Given the description of an element on the screen output the (x, y) to click on. 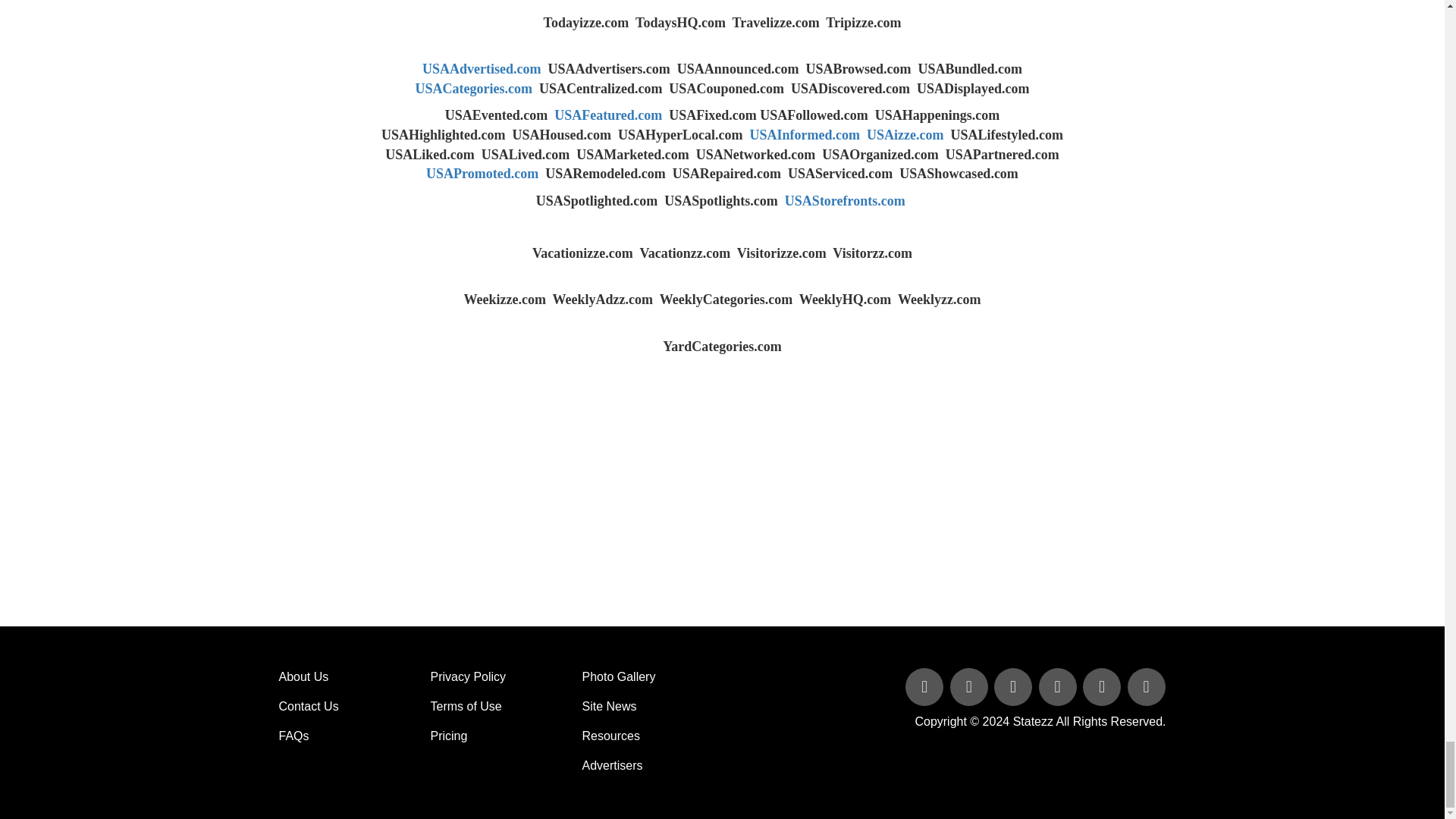
Follow Us on You Tube (1058, 687)
Follow Us on Twitter (970, 687)
Follow Us on Instagram (1145, 687)
Follow Us on Linked In (1014, 687)
Follow Us on Facebook (925, 687)
Follow Us on Pinterest (1103, 687)
